Given the description of an element on the screen output the (x, y) to click on. 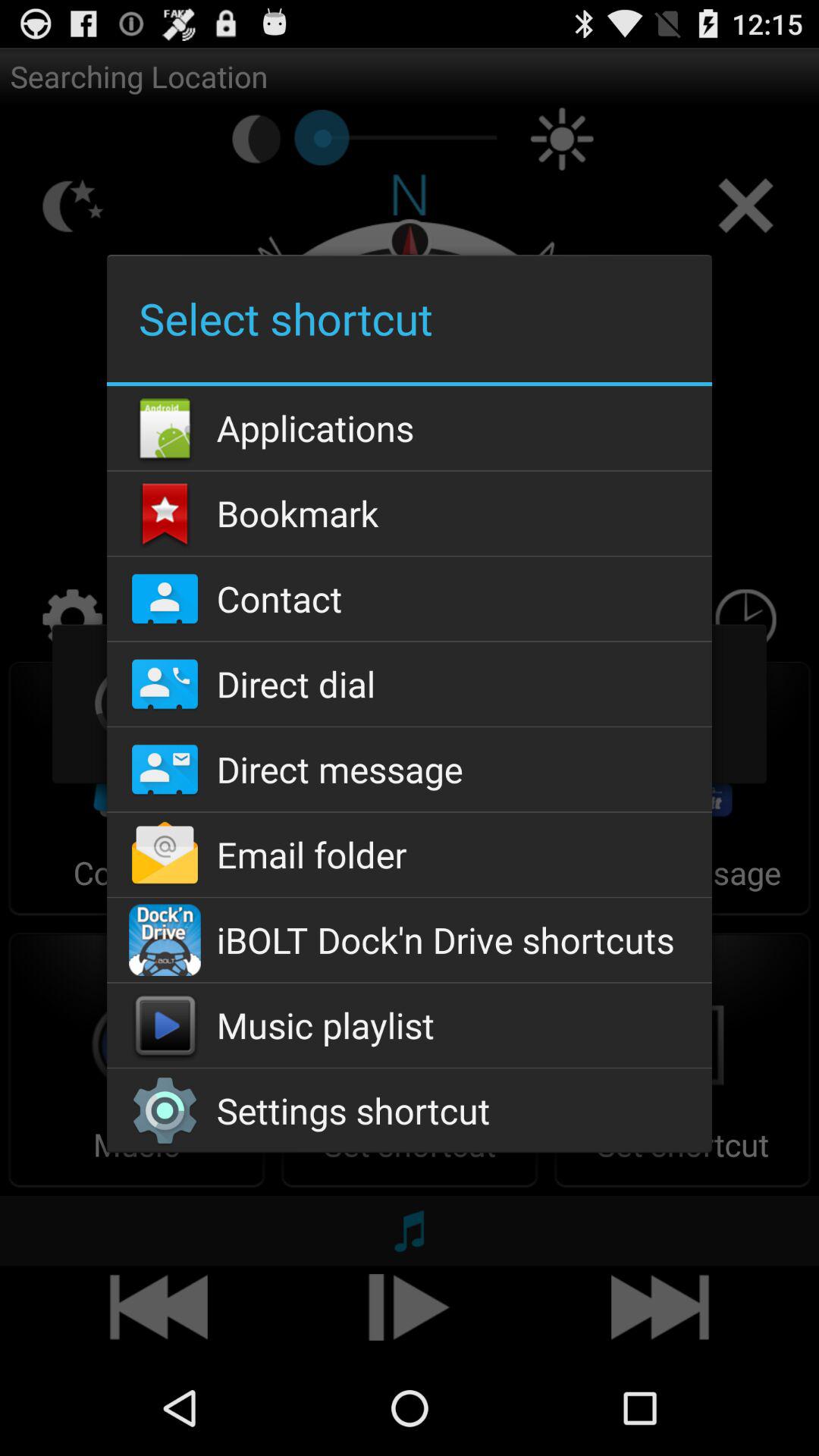
choose bookmark (409, 513)
